Given the description of an element on the screen output the (x, y) to click on. 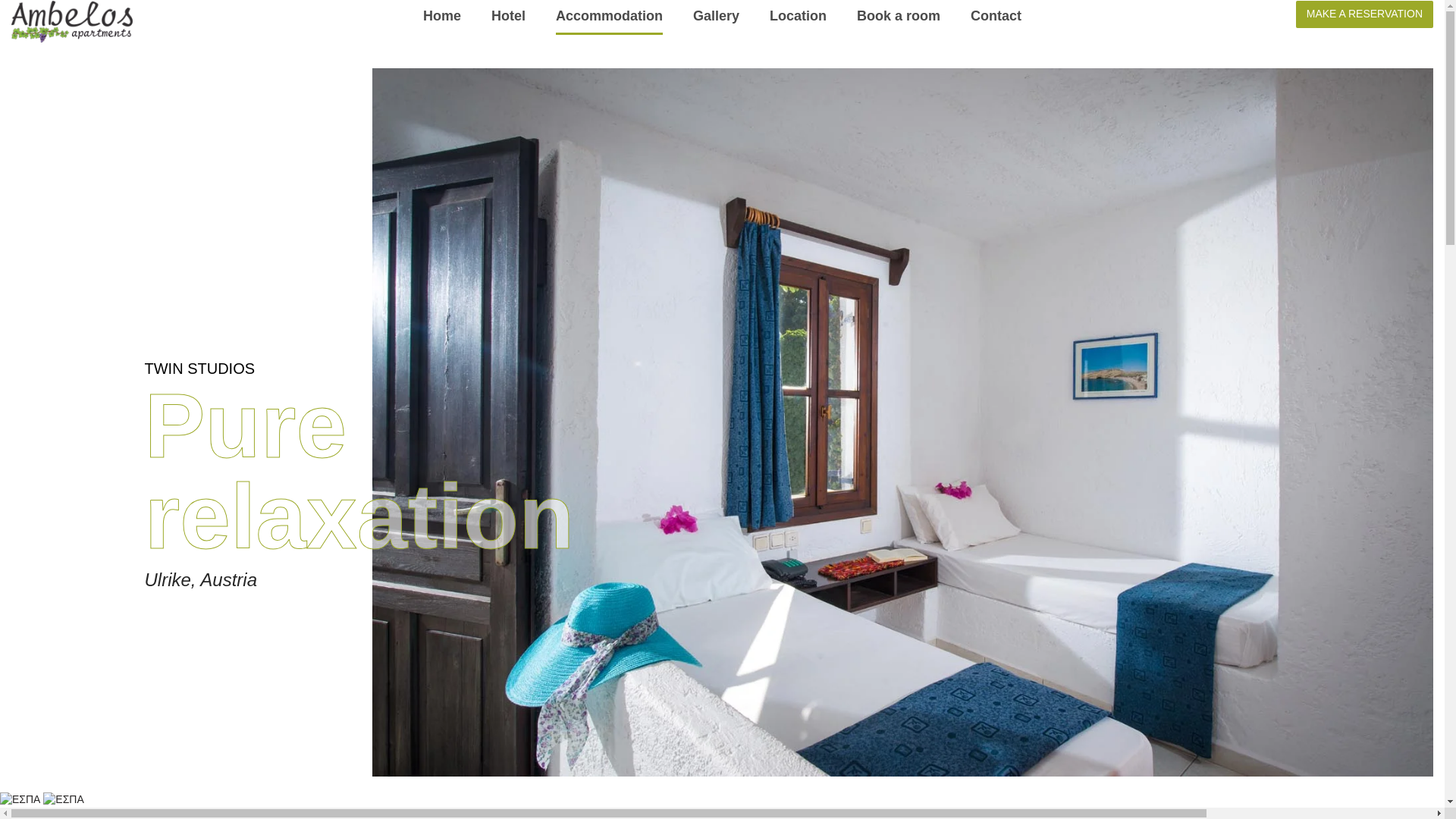
Location (798, 15)
Hotel (508, 15)
Home (442, 15)
Contact (996, 15)
MAKE A RESERVATION (1363, 13)
Book a room (898, 15)
Accommodation (609, 15)
Gallery (716, 15)
